Given the description of an element on the screen output the (x, y) to click on. 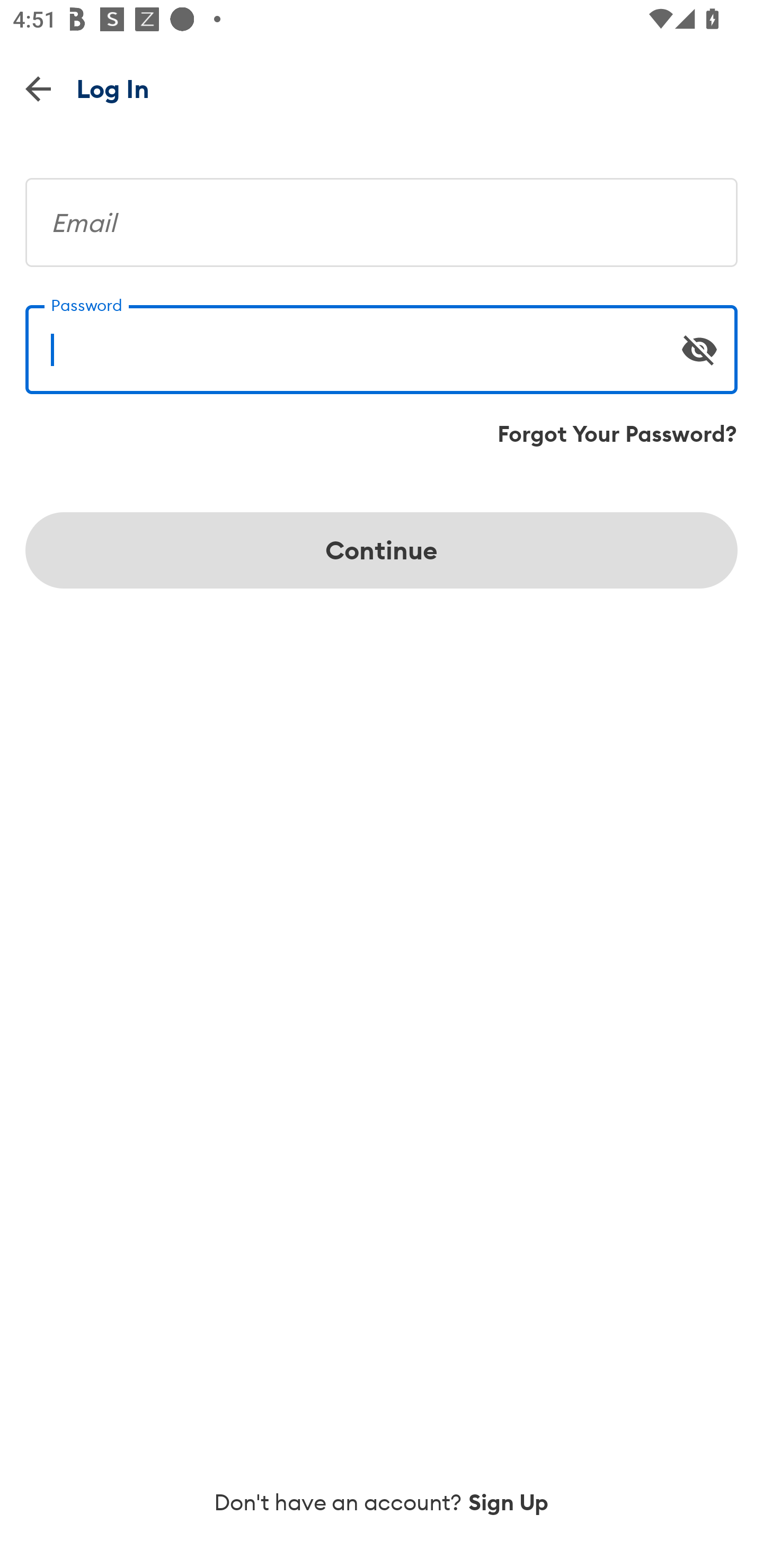
Back (38, 88)
Email (381, 215)
Password (381, 342)
Forgot Your Password? (617, 433)
Continue (381, 550)
Sign Up (508, 1502)
